Given the description of an element on the screen output the (x, y) to click on. 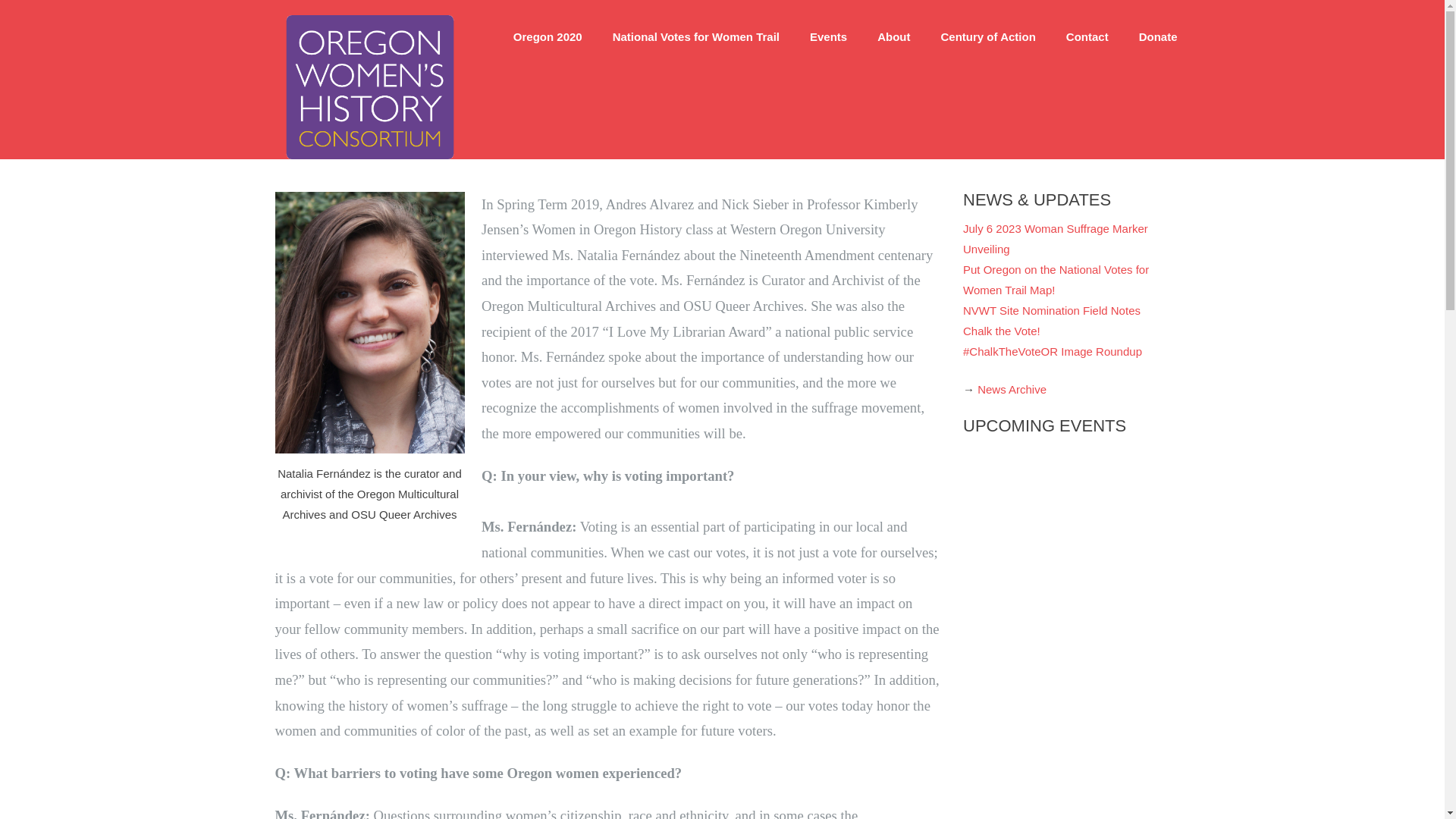
Century of Action (988, 36)
Contact (1087, 36)
About (892, 36)
About (892, 36)
Contact (1087, 36)
Oregon 2020 (546, 36)
Century of Action (988, 36)
Events (827, 36)
National Votes for Women Trail (695, 36)
